Given the description of an element on the screen output the (x, y) to click on. 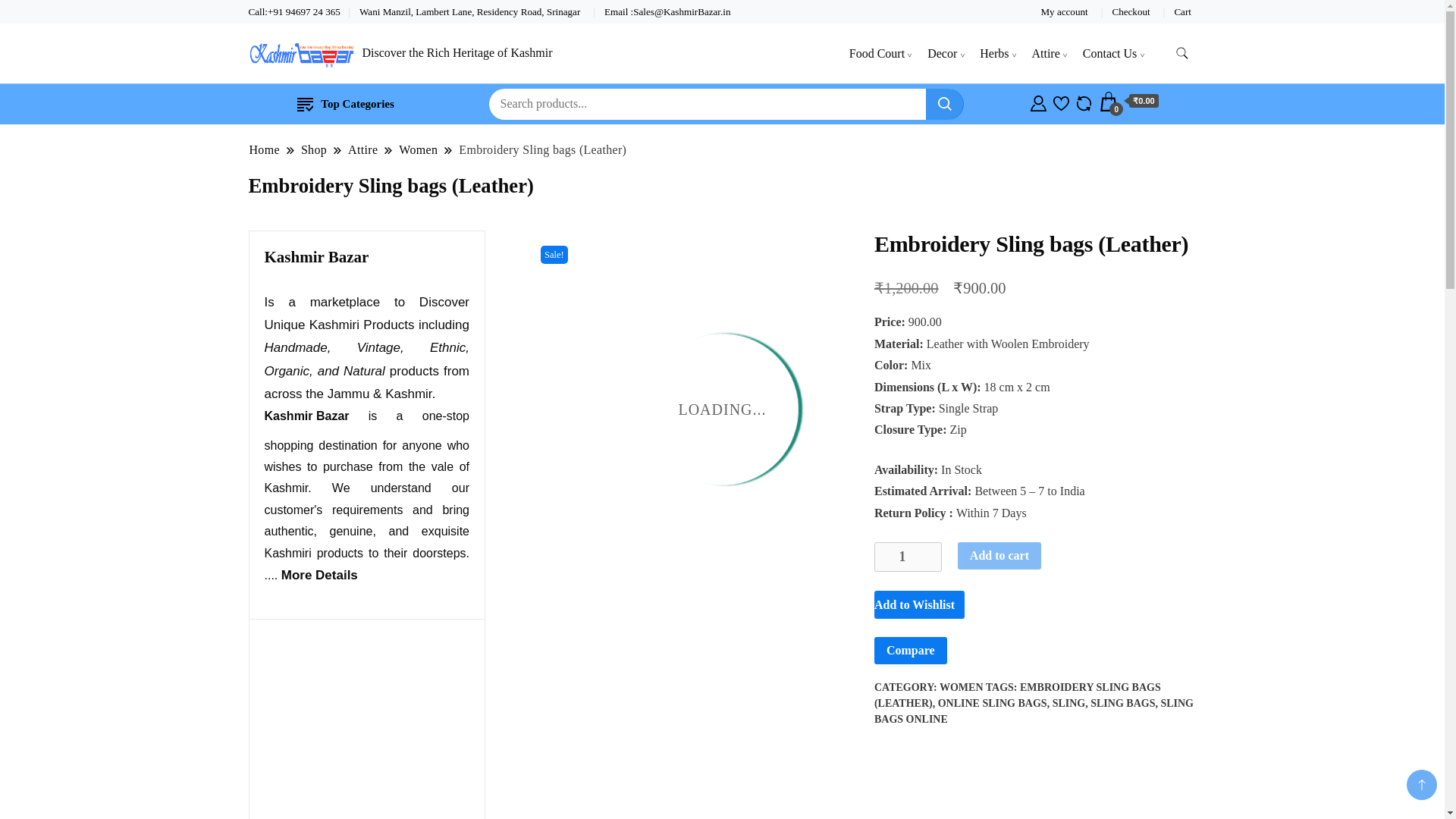
Compare (1083, 101)
Checkout (1131, 11)
My account (1064, 11)
Cart (1128, 101)
Cart (1182, 11)
Wishlist (1060, 101)
My Account (1038, 101)
Contact Us (1110, 53)
1 (908, 556)
Food Court (877, 53)
